Given the description of an element on the screen output the (x, y) to click on. 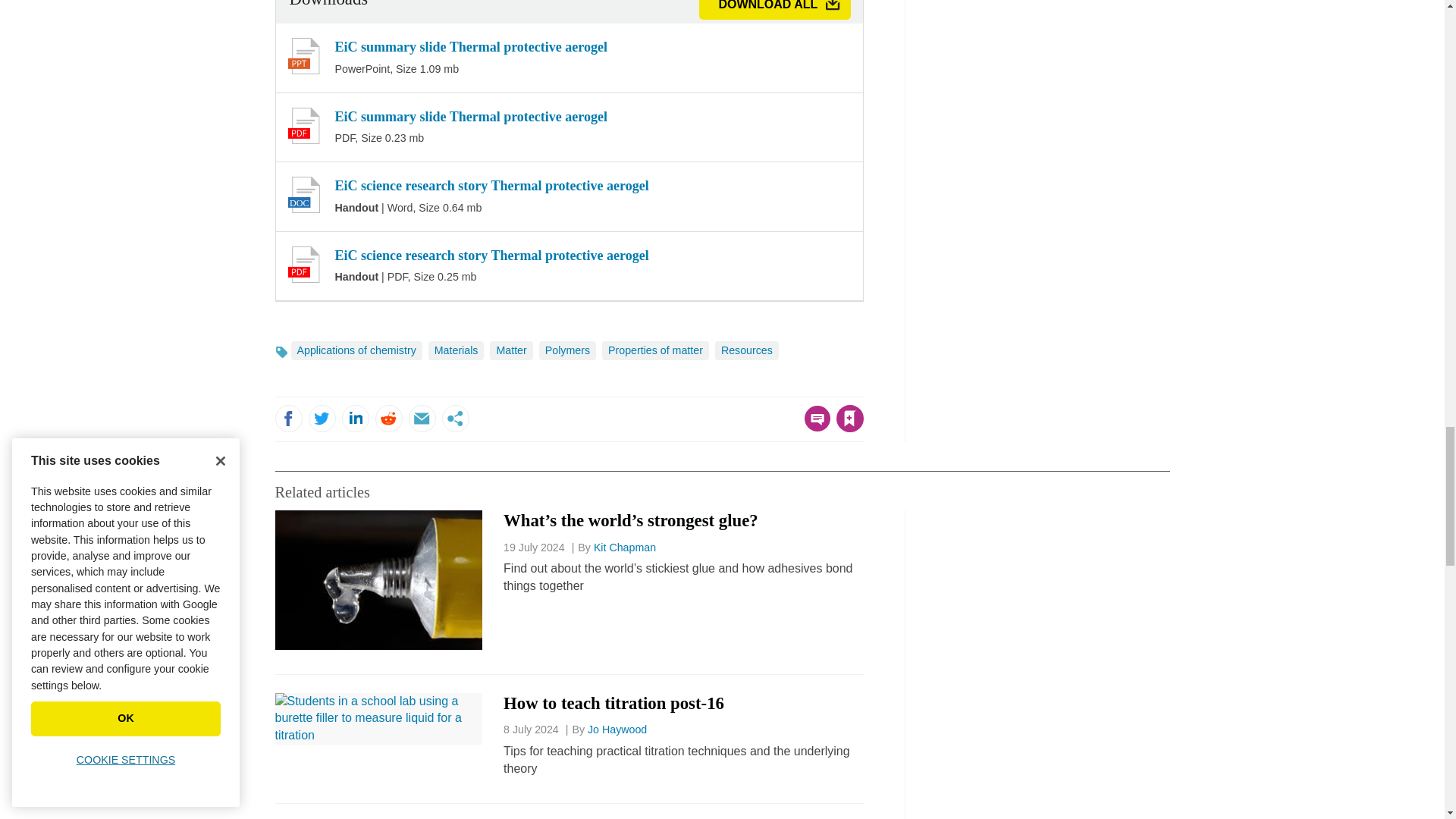
Share this on Reddit (387, 418)
Share this on Twitter (320, 418)
Share this on LinkedIn (354, 418)
More share options (454, 418)
Share this on Facebook (288, 418)
No comments (812, 427)
Share this by email (421, 418)
